Given the description of an element on the screen output the (x, y) to click on. 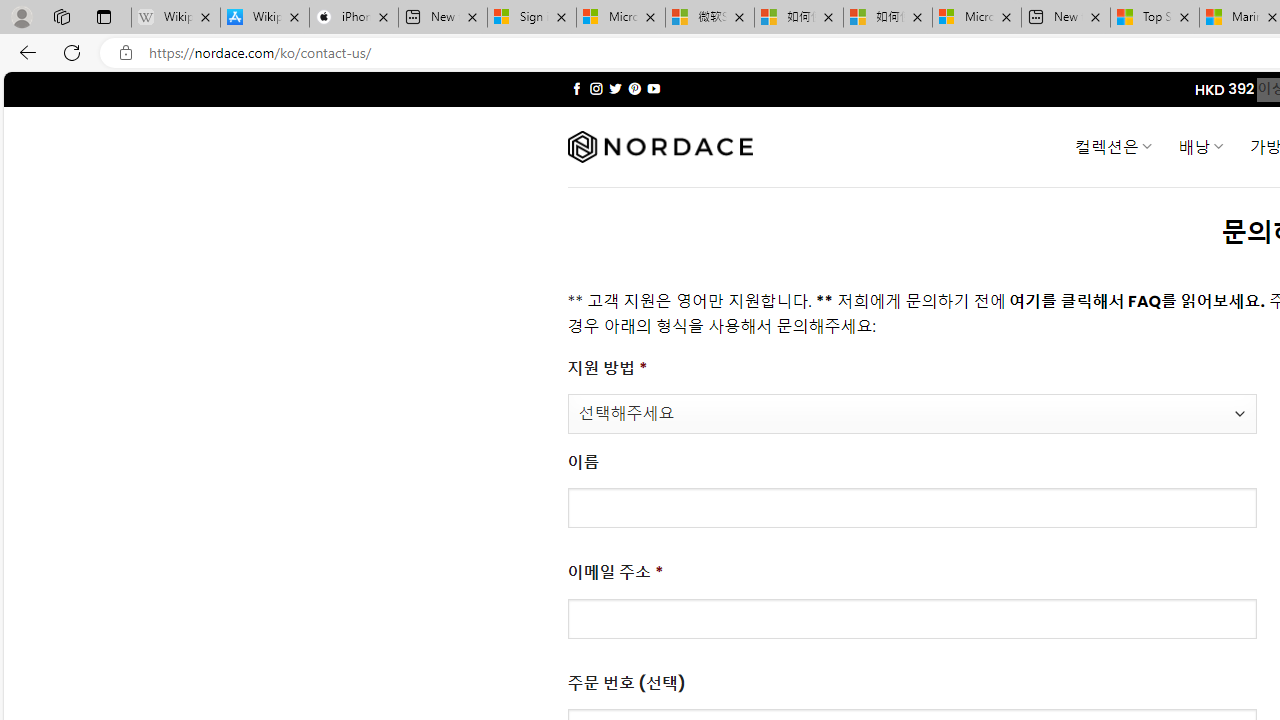
Follow on Pinterest (634, 88)
iPhone - Apple (353, 17)
